Given the description of an element on the screen output the (x, y) to click on. 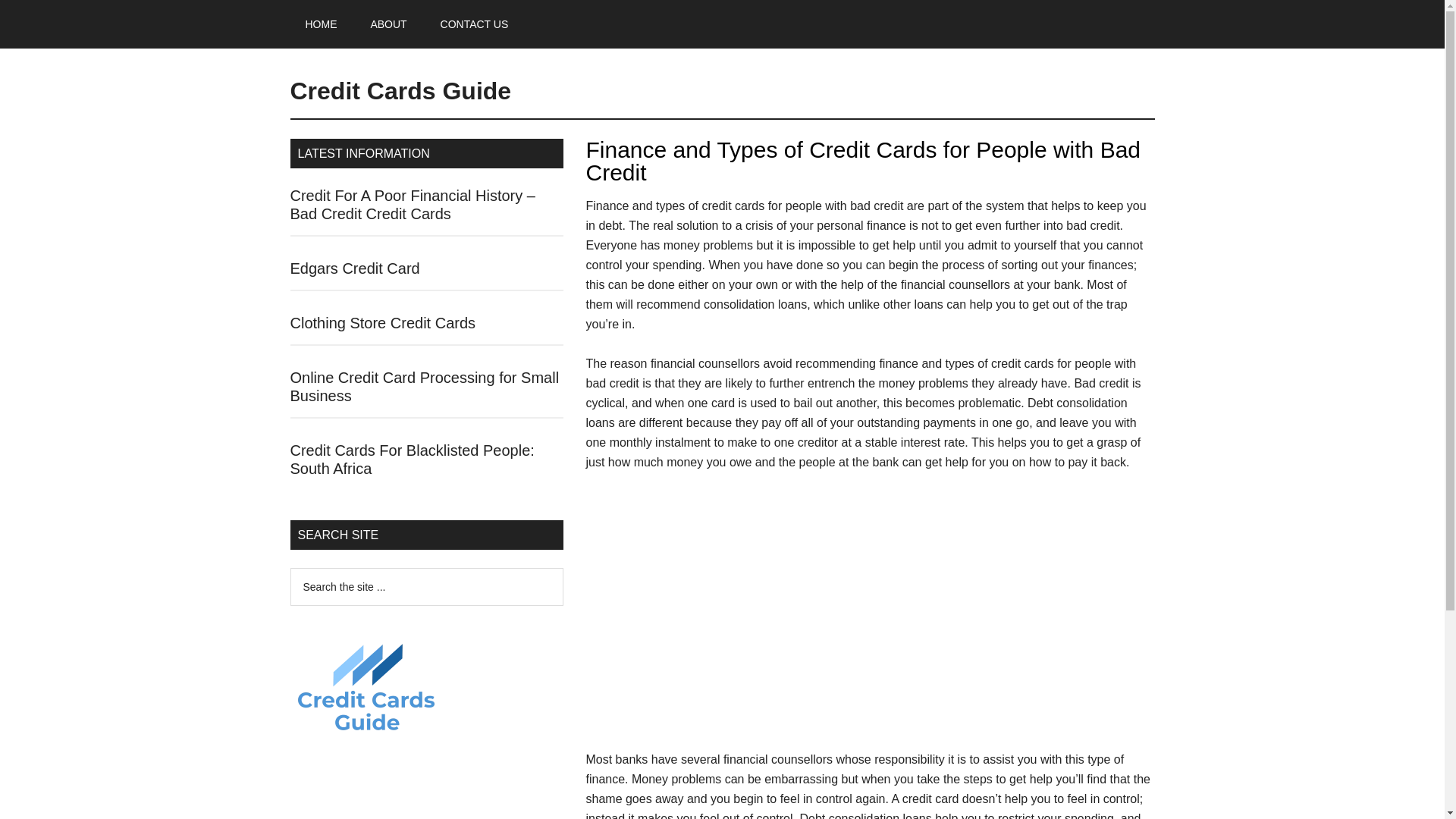
Credit Cards For Blacklisted People: South Africa (411, 459)
CONTACT US (474, 24)
HOME (320, 24)
Edgars Credit Card (354, 268)
Online Credit Card Processing for Small Business (424, 386)
Advertisement (869, 617)
Credit Cards Guide (400, 90)
